Given the description of an element on the screen output the (x, y) to click on. 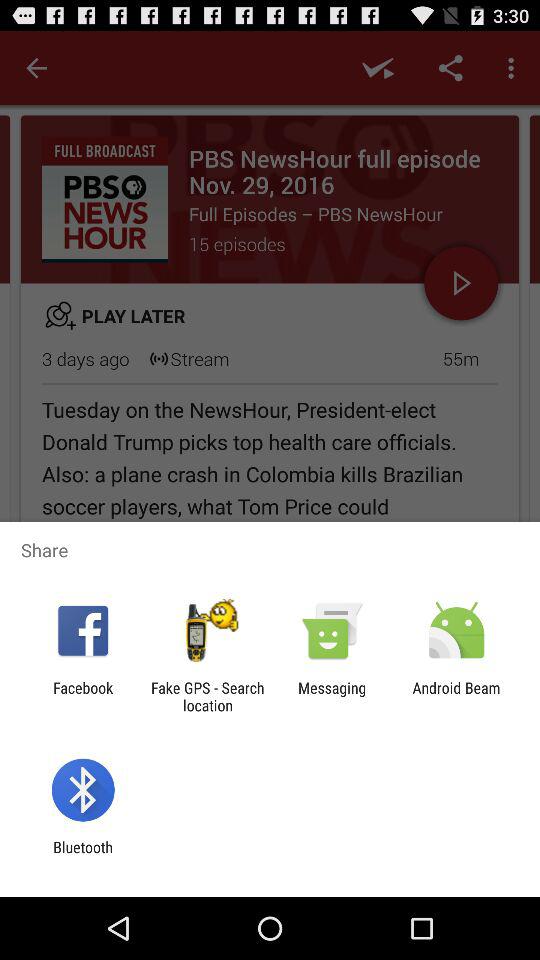
click the android beam item (456, 696)
